Given the description of an element on the screen output the (x, y) to click on. 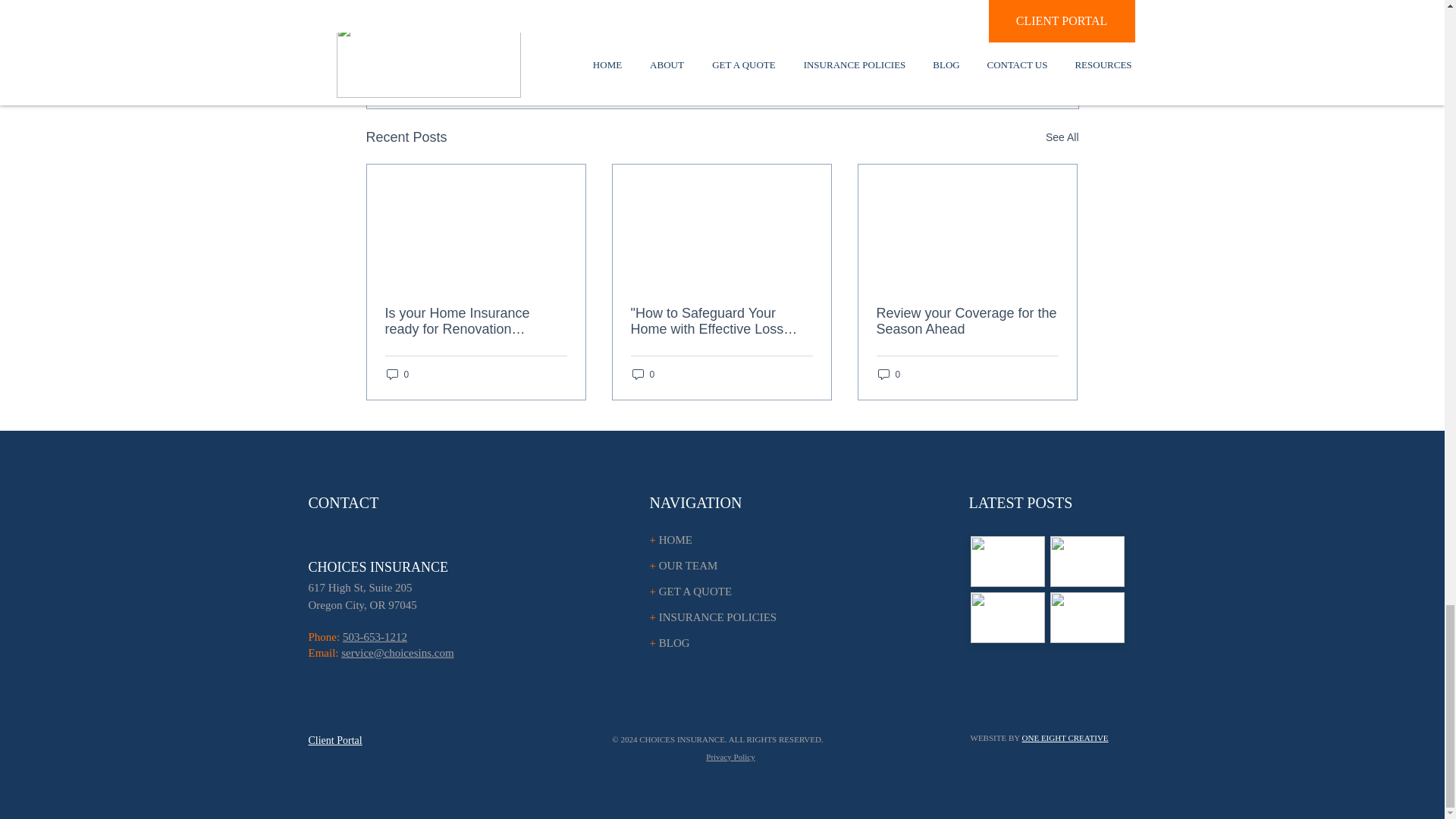
0 (643, 373)
0 (889, 373)
Is your Home Insurance ready for Renovation Season? (476, 321)
See All (1061, 137)
Review your Coverage for the Season Ahead (967, 321)
503-653-1212 (374, 636)
61 (312, 587)
Personal Insurance (957, 39)
0 (397, 373)
